Given the description of an element on the screen output the (x, y) to click on. 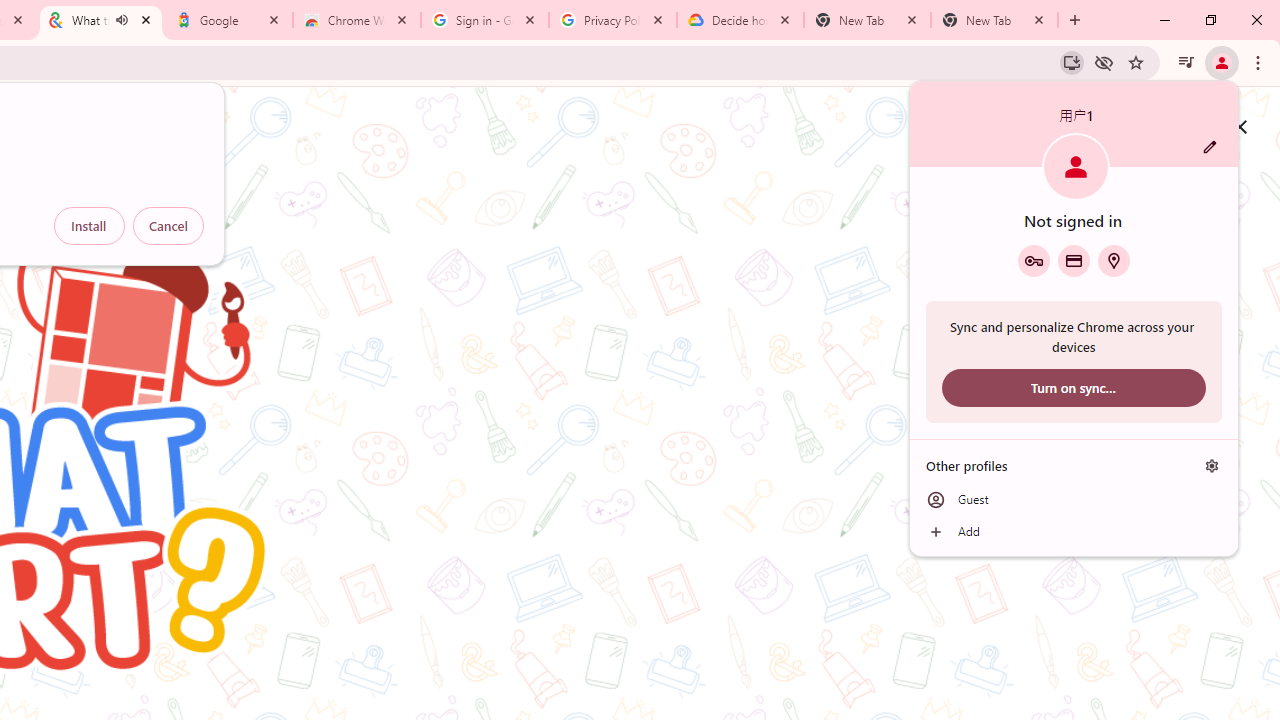
New Tab (994, 20)
Google Password Manager (1033, 260)
Mute tab (121, 20)
Addresses and more (1114, 260)
Payment methods (1074, 260)
Add (1073, 531)
Customize profile (1210, 147)
